Given the description of an element on the screen output the (x, y) to click on. 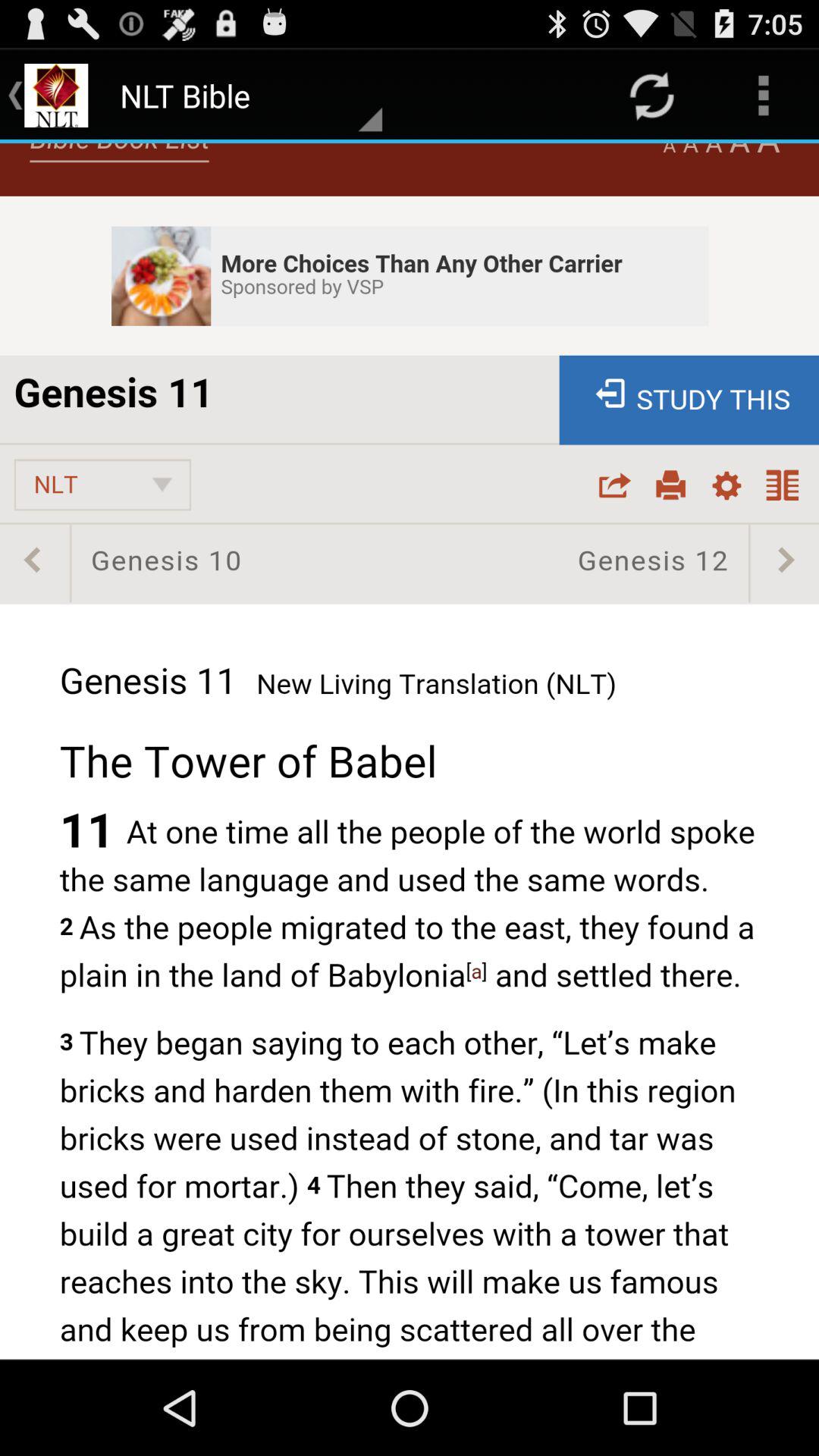
content in seen (409, 751)
